Given the description of an element on the screen output the (x, y) to click on. 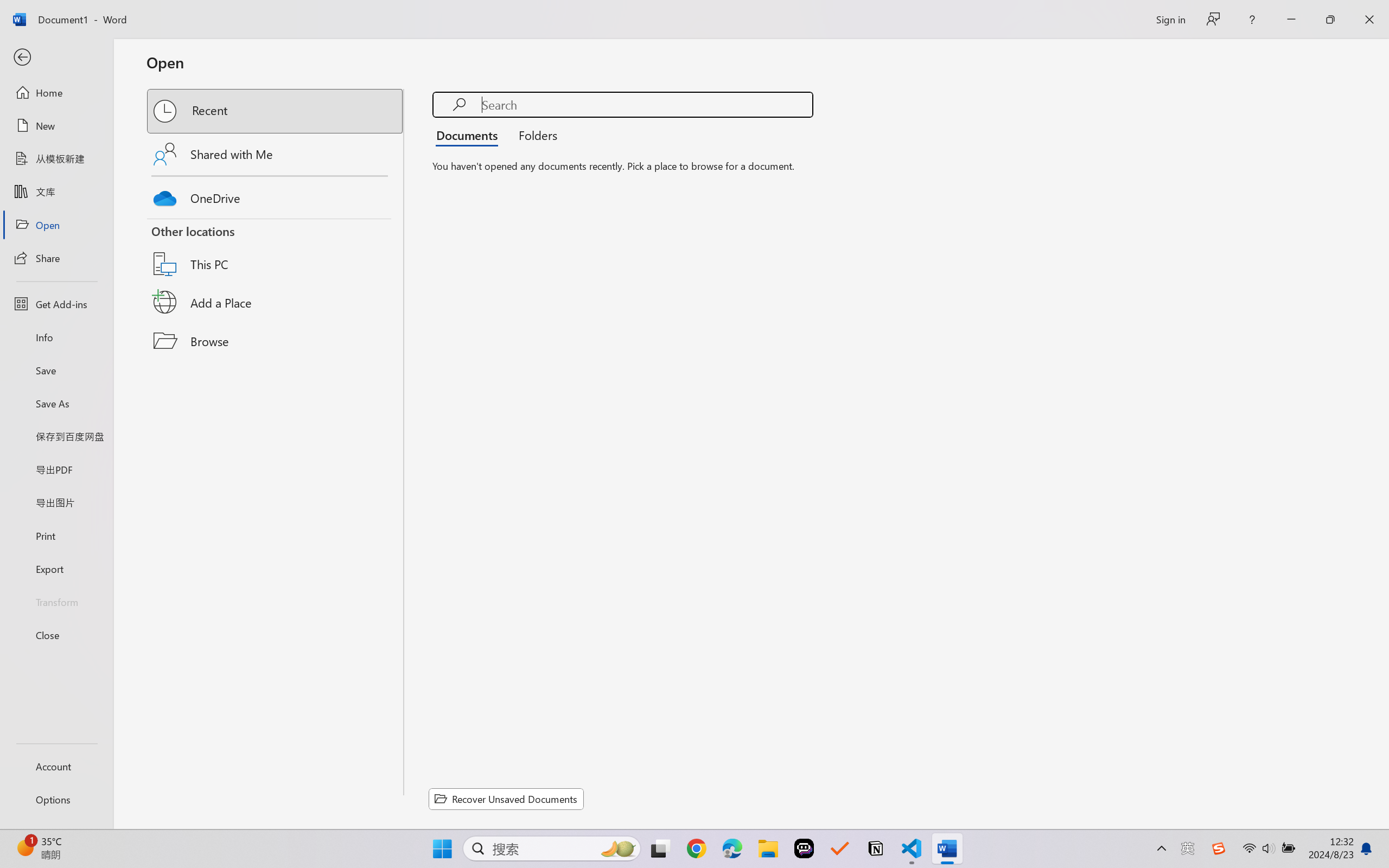
Get Add-ins (56, 303)
Recover Unsaved Documents (506, 798)
Save As (56, 403)
Transform (56, 601)
Options (56, 798)
